Given the description of an element on the screen output the (x, y) to click on. 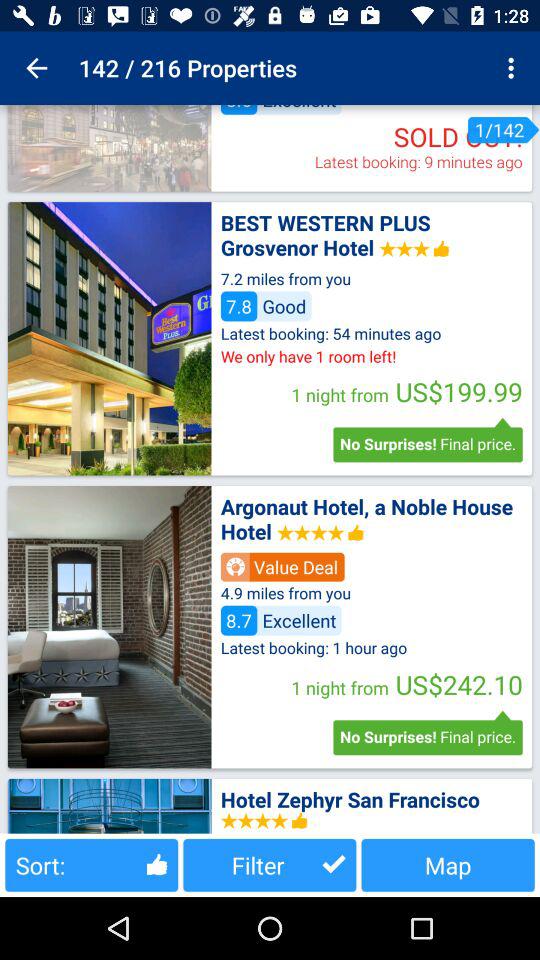
choose item next to the filter (447, 864)
